Given the description of an element on the screen output the (x, y) to click on. 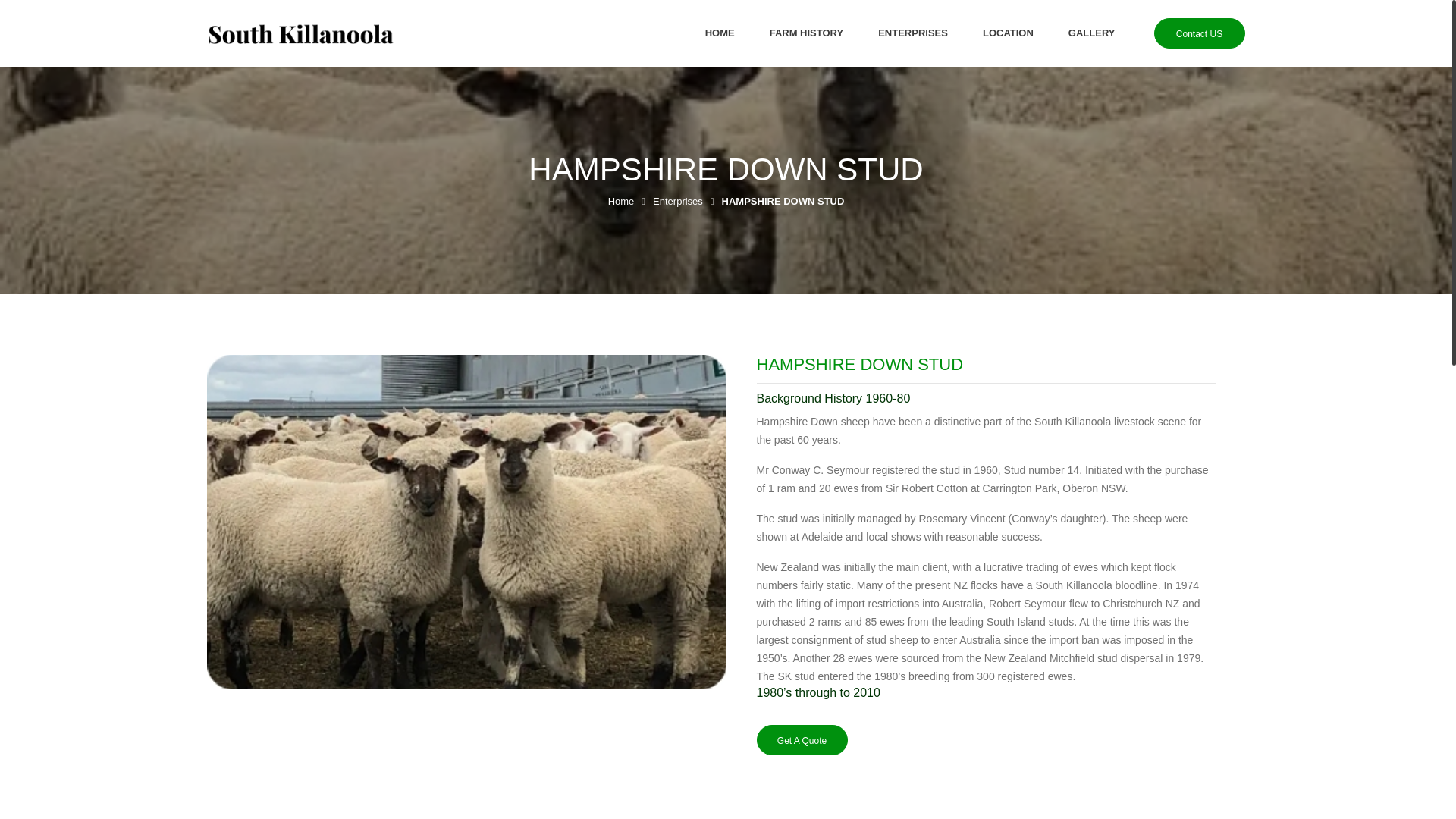
Home (621, 201)
Contact US (1199, 33)
Enterprises (677, 201)
HAMPSHIRE DOWN STUD (783, 201)
Home (621, 201)
Get A Quote (802, 739)
FARM HISTORY (806, 33)
Enterprises (677, 201)
South Killanoola (300, 33)
ENTERPRISES (913, 33)
